Given the description of an element on the screen output the (x, y) to click on. 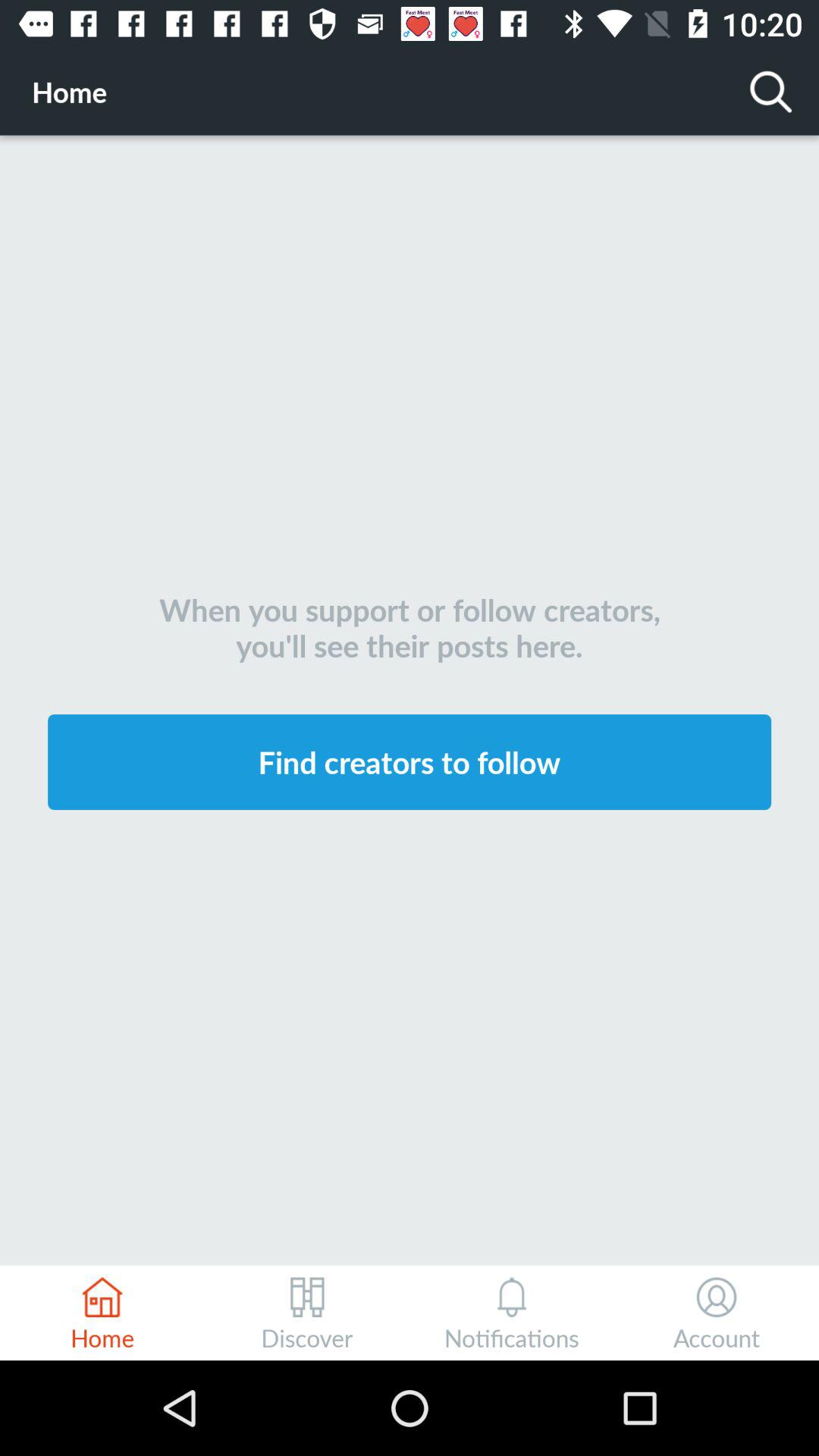
swipe to the find creators to (409, 761)
